Given the description of an element on the screen output the (x, y) to click on. 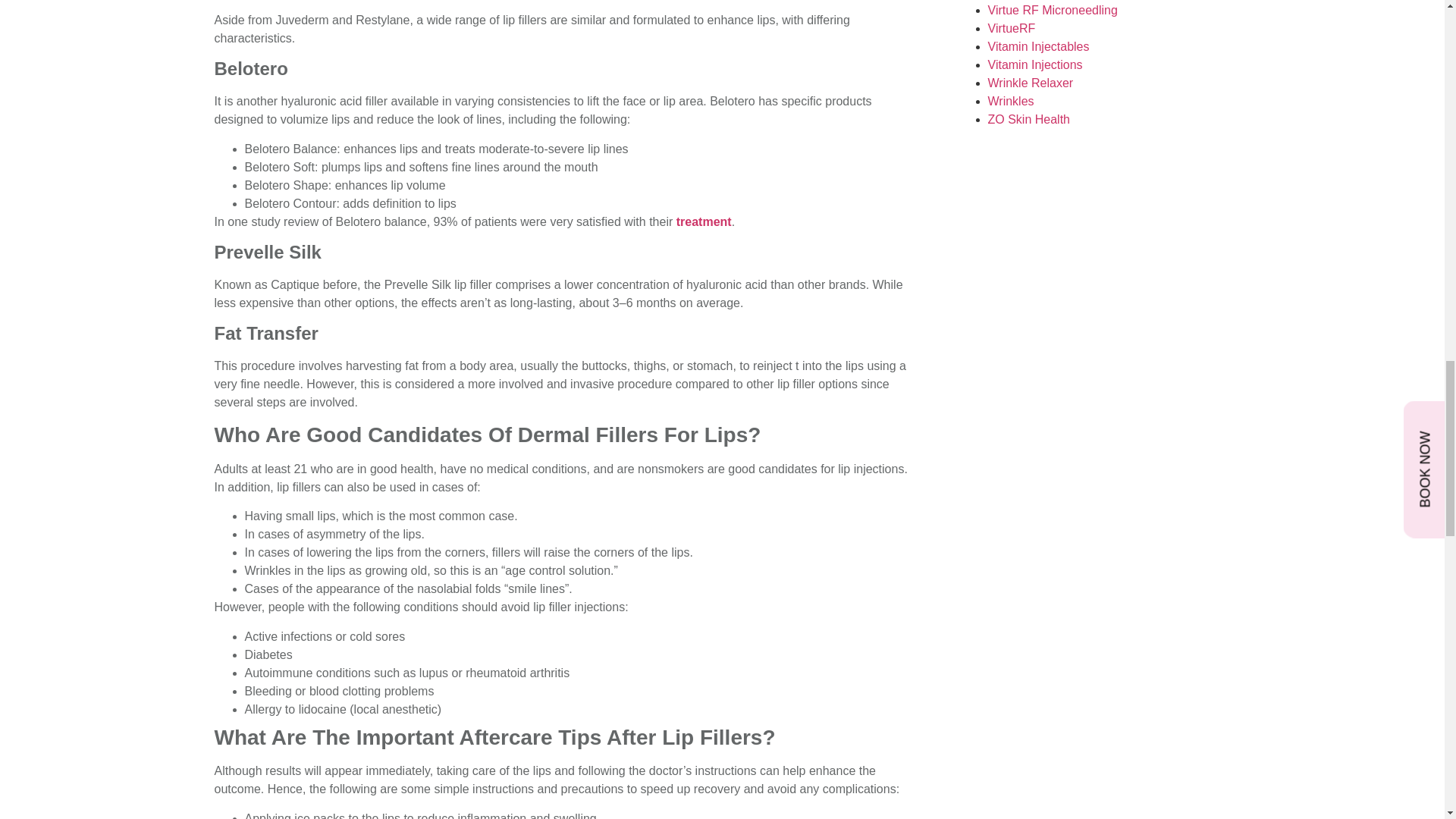
treatment (704, 221)
